Given the description of an element on the screen output the (x, y) to click on. 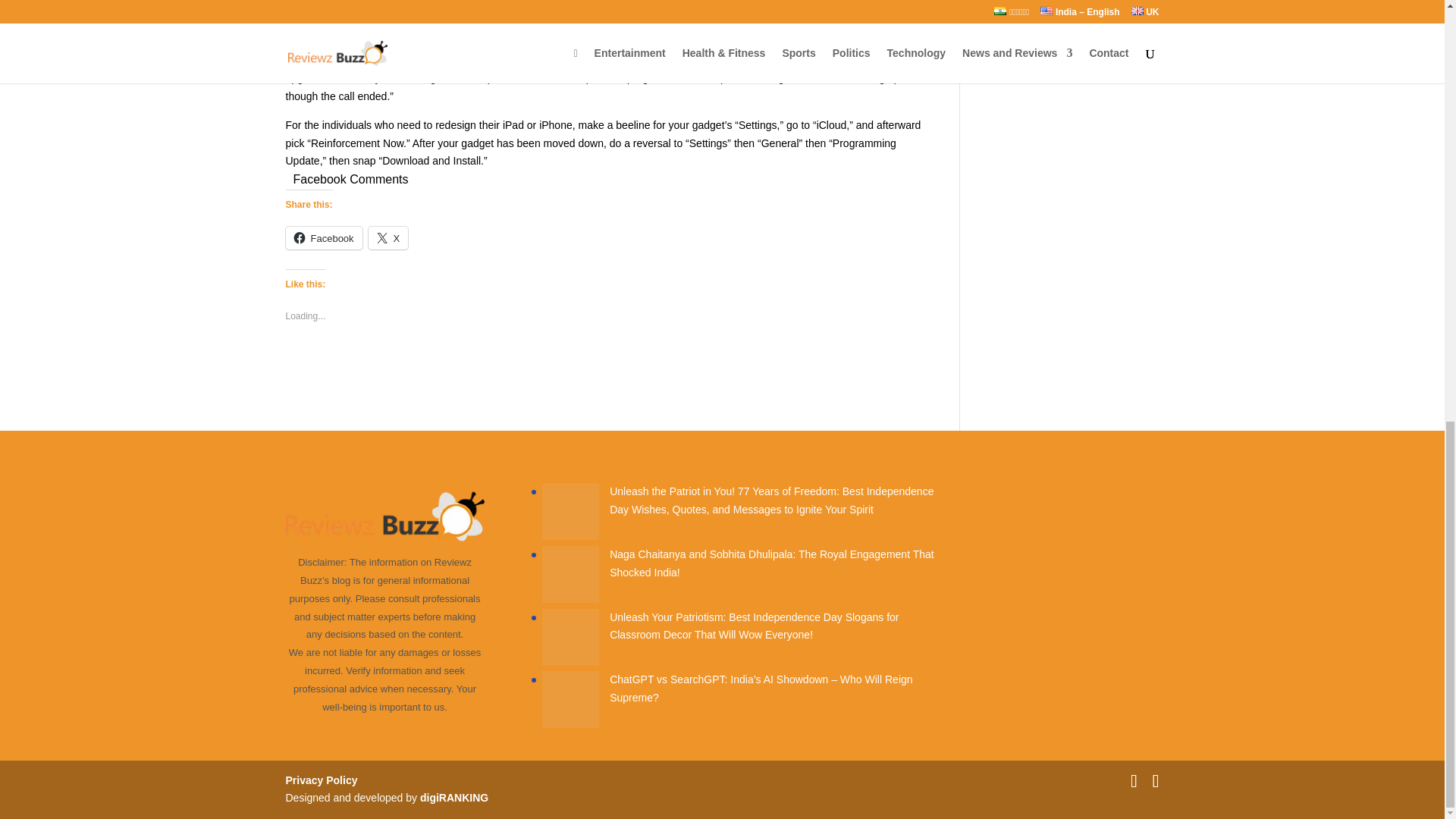
Click to share on Facebook (323, 237)
Click to share on X (388, 237)
Facebook (323, 237)
X (388, 237)
